Given the description of an element on the screen output the (x, y) to click on. 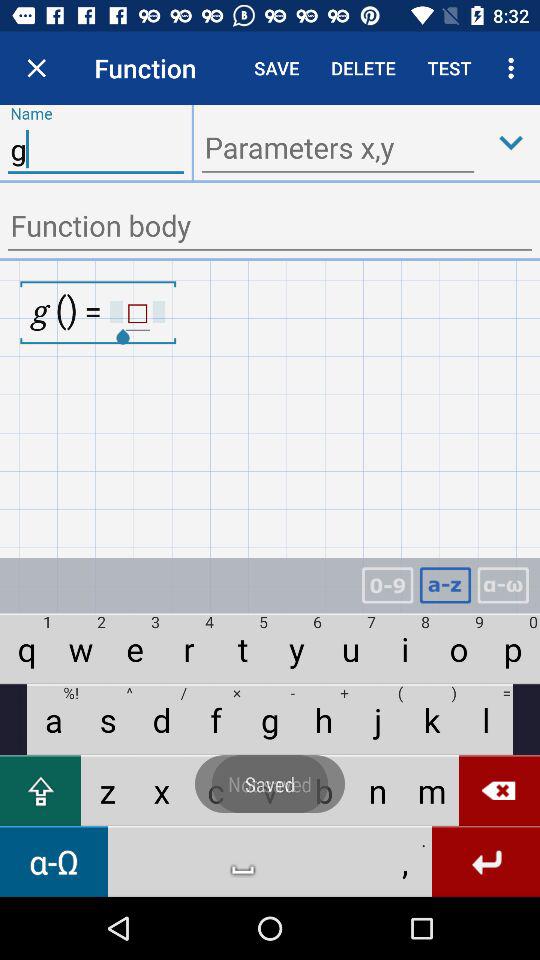
enter necessary information (269, 227)
